Given the description of an element on the screen output the (x, y) to click on. 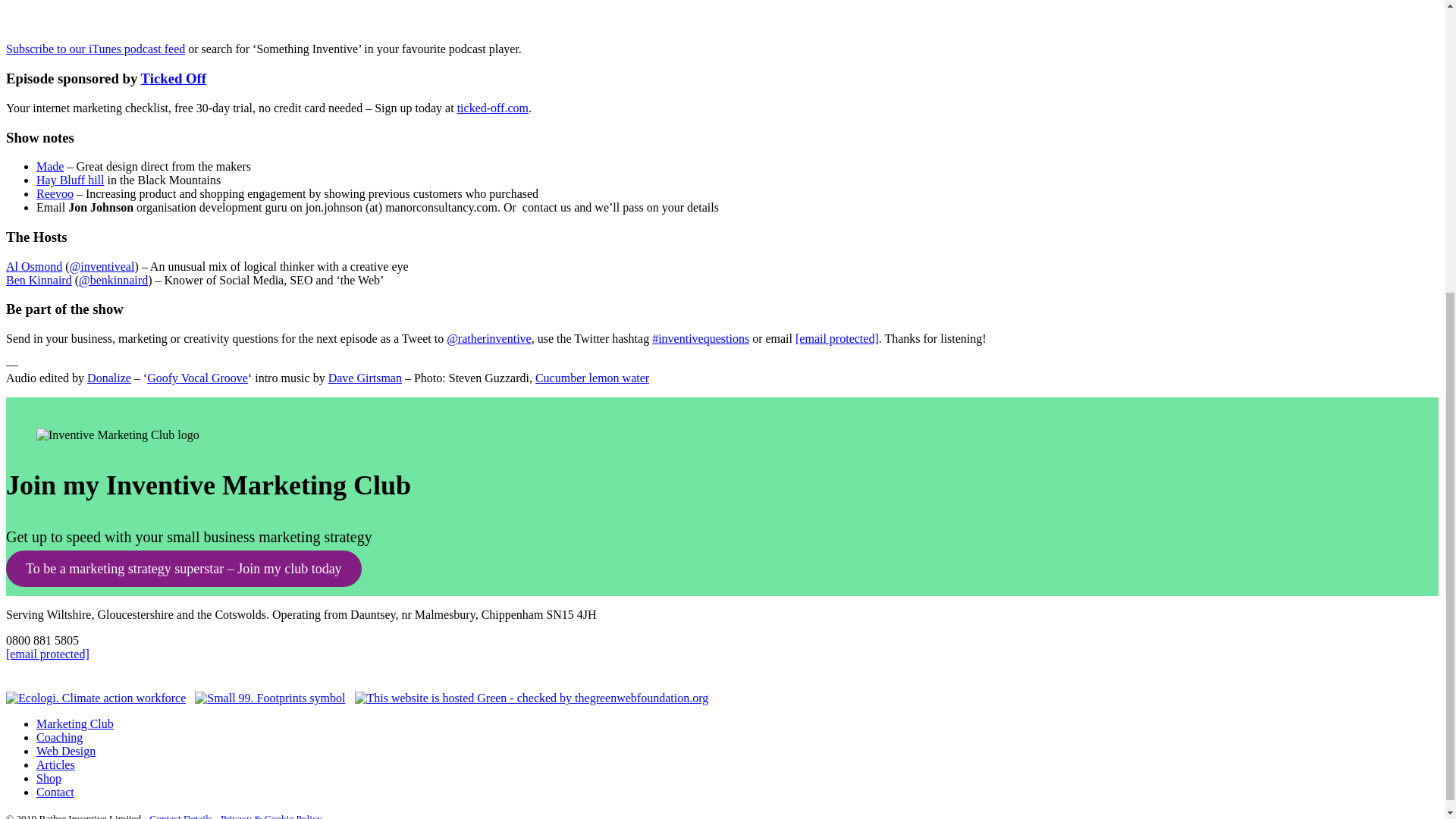
Reevoo (55, 193)
Subscribe to our iTunes podcast feed (94, 48)
Hay Bluff hill (69, 179)
Donalize (109, 377)
Cucumber lemon water (592, 377)
Ticked Off (173, 78)
Goofy Vocal Groove (197, 377)
ticked-off.com (492, 107)
View our carbon reduction plan (270, 697)
Ben Kinnaird (38, 279)
